Given the description of an element on the screen output the (x, y) to click on. 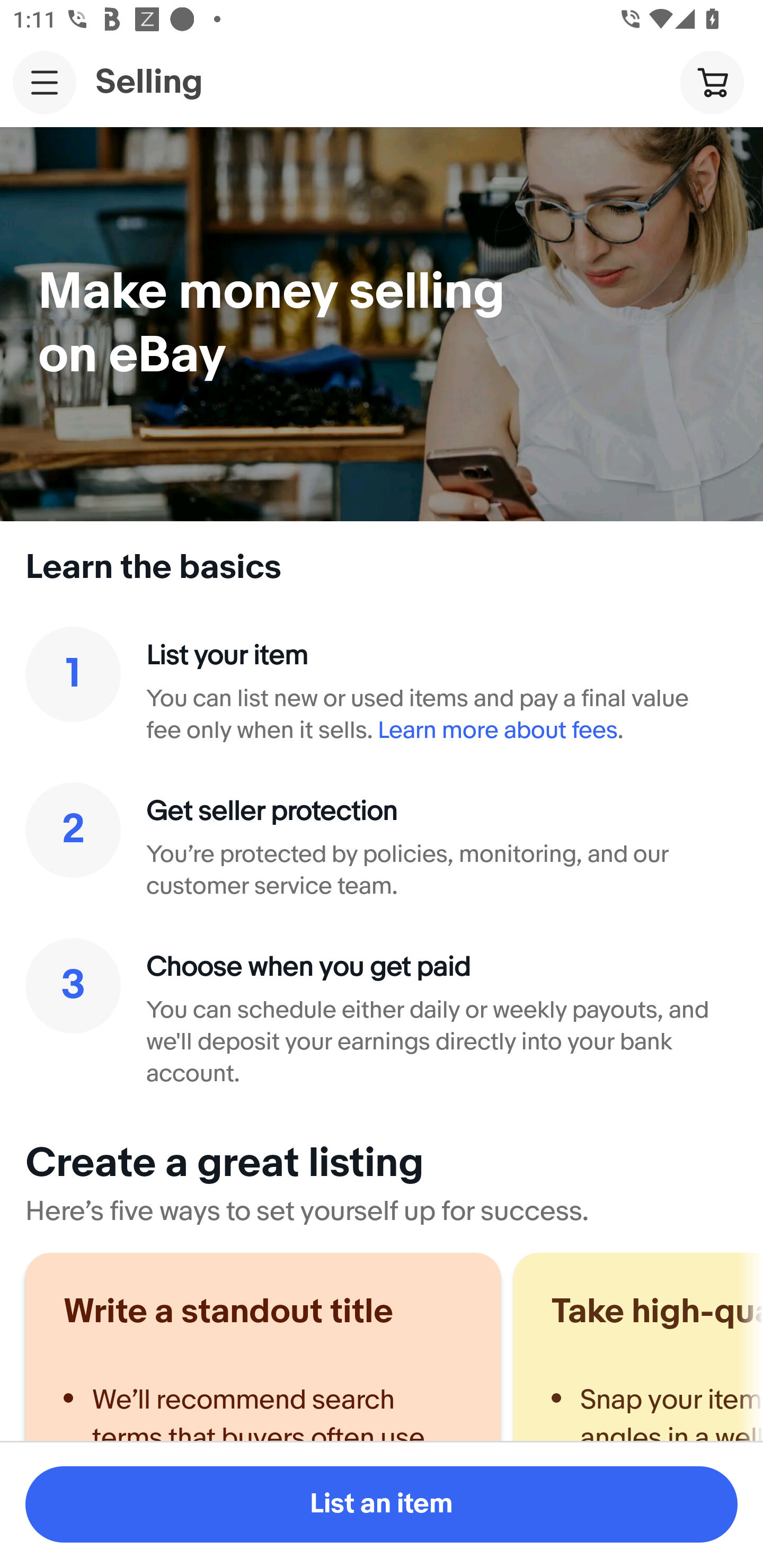
Main navigation, open (44, 82)
Cart button shopping cart (711, 81)
List an item (381, 1504)
